Given the description of an element on the screen output the (x, y) to click on. 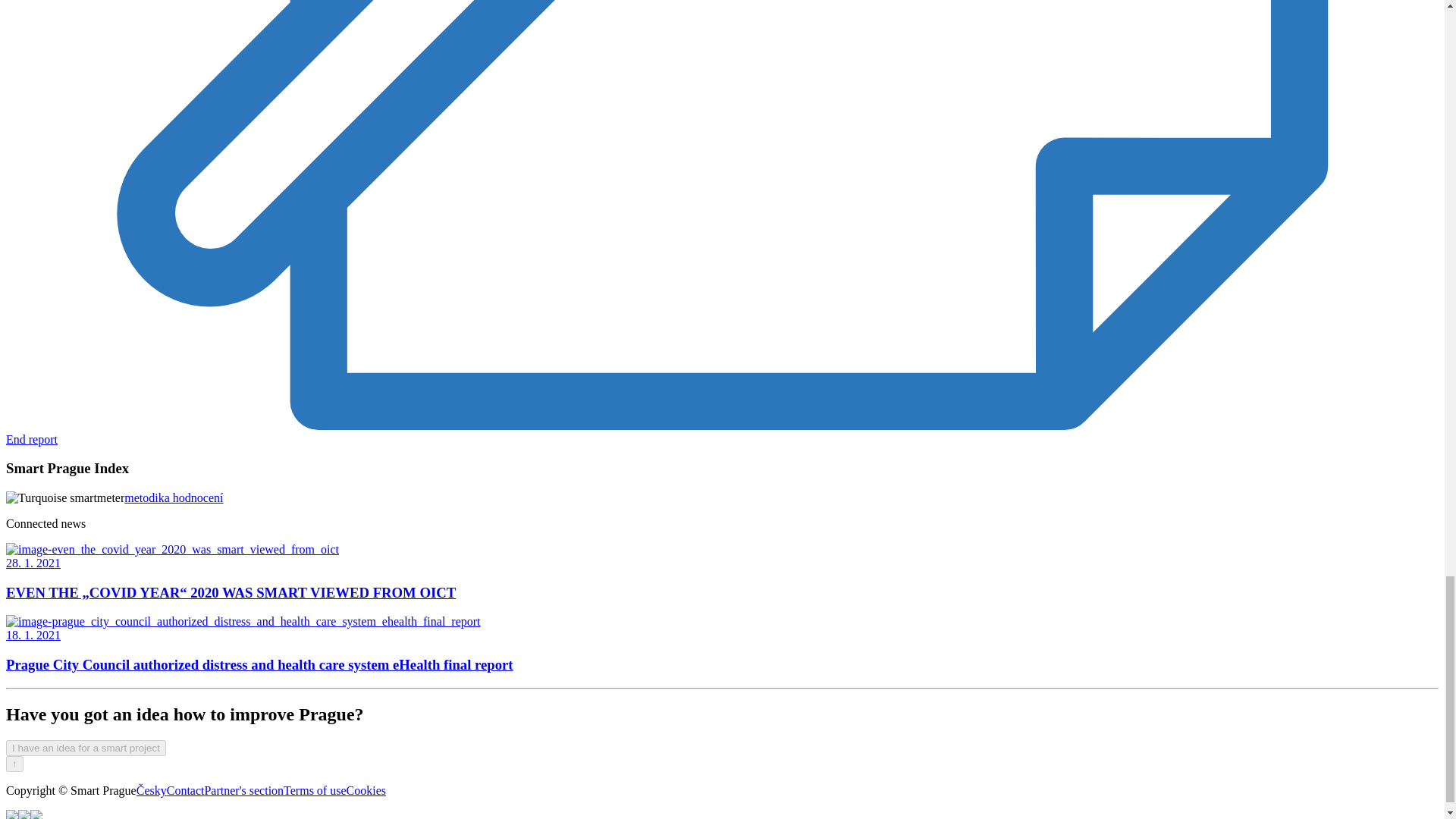
Back to top (14, 763)
Contact (186, 789)
I have an idea for a smart project (85, 747)
I have an idea for a smart project (85, 747)
Partner's section (243, 789)
Terms of use (314, 789)
Cookies (365, 789)
